Given the description of an element on the screen output the (x, y) to click on. 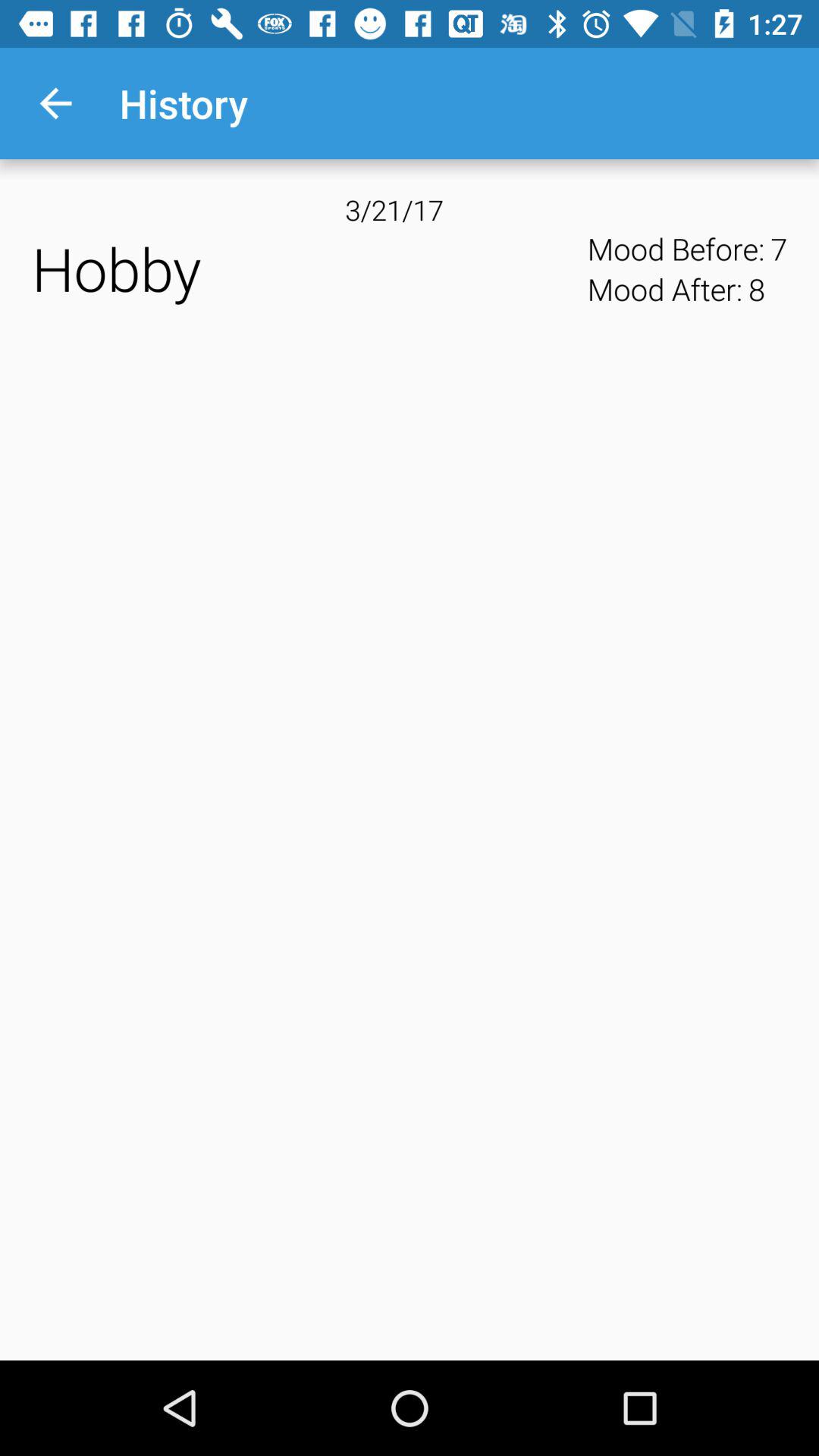
scroll to the hobby (304, 268)
